Given the description of an element on the screen output the (x, y) to click on. 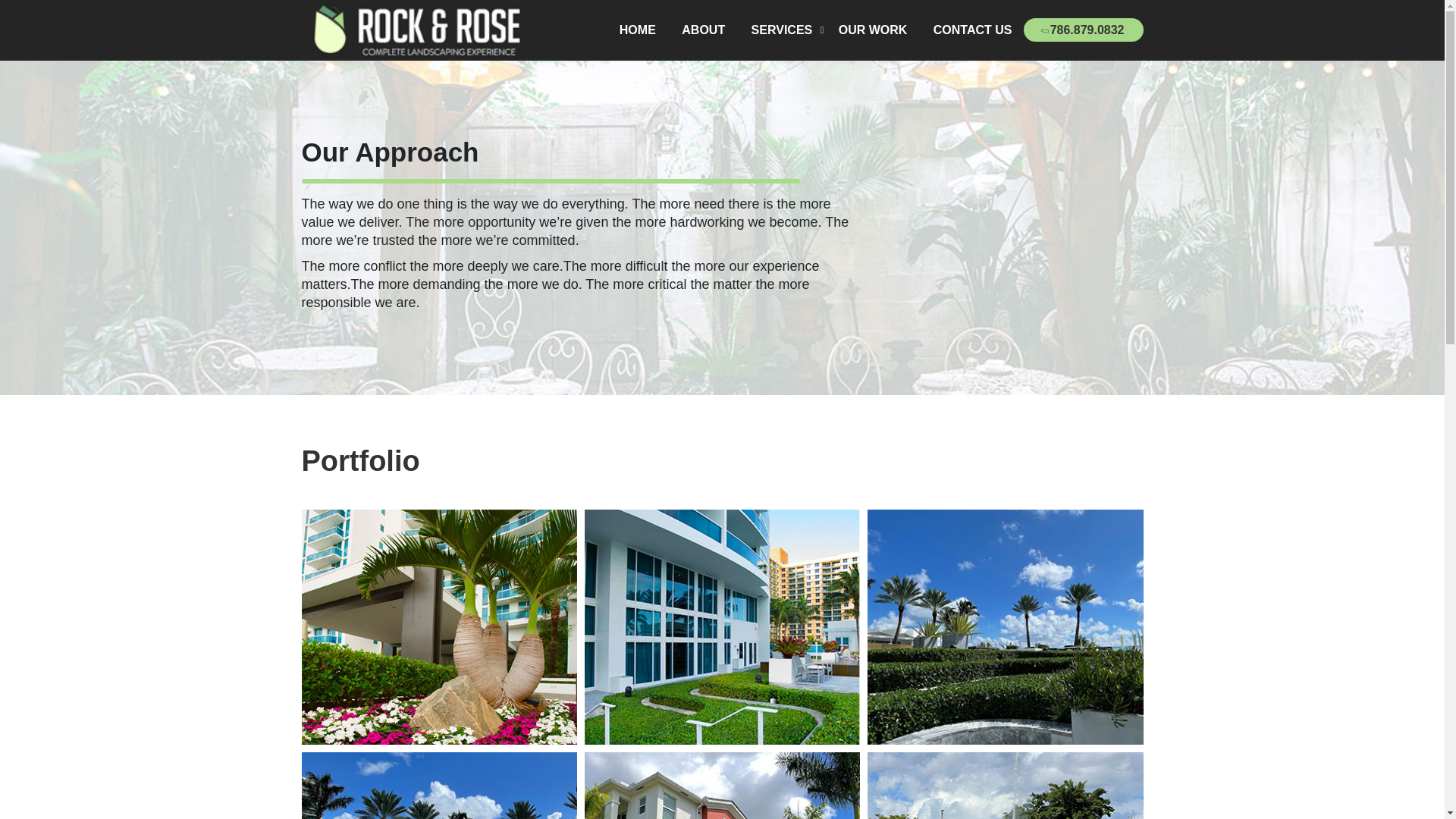
SERVICES (781, 30)
CONTACT US (972, 30)
786.879.0832 (1082, 29)
OUR WORK (872, 30)
